Given the description of an element on the screen output the (x, y) to click on. 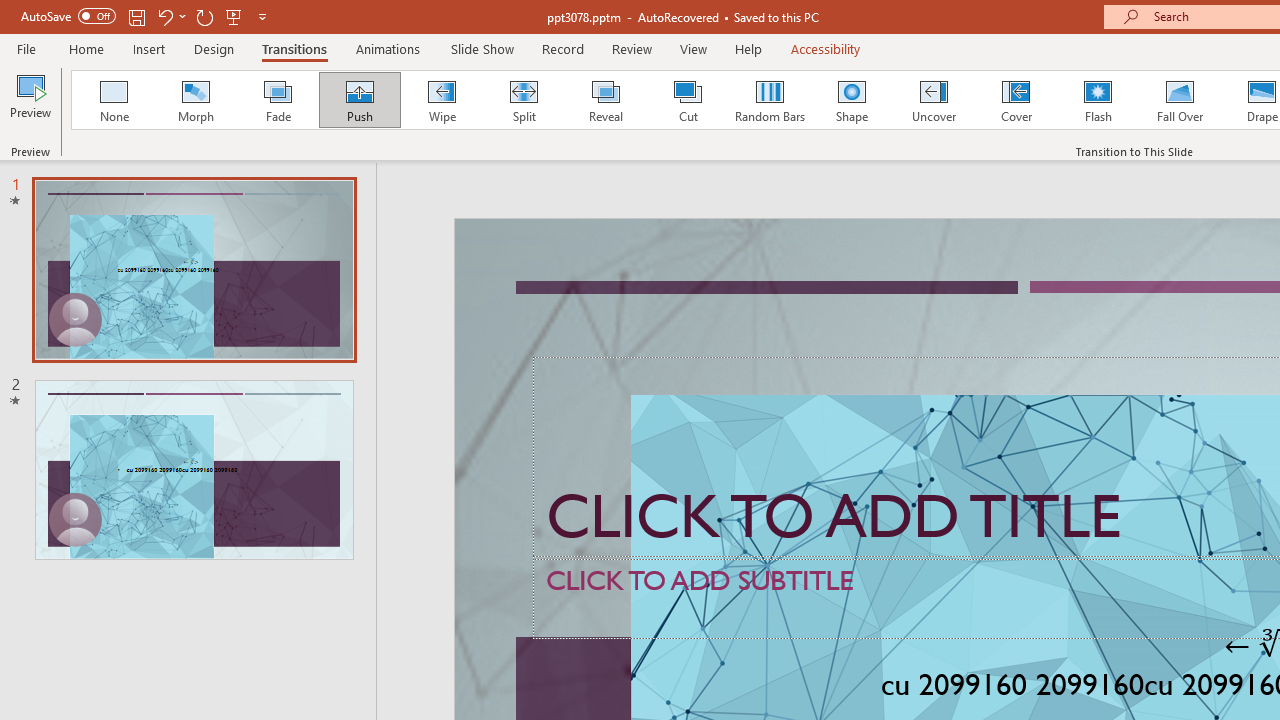
Morph (195, 100)
Cover (1016, 100)
Reveal (605, 100)
None (113, 100)
Shape (852, 100)
